Given the description of an element on the screen output the (x, y) to click on. 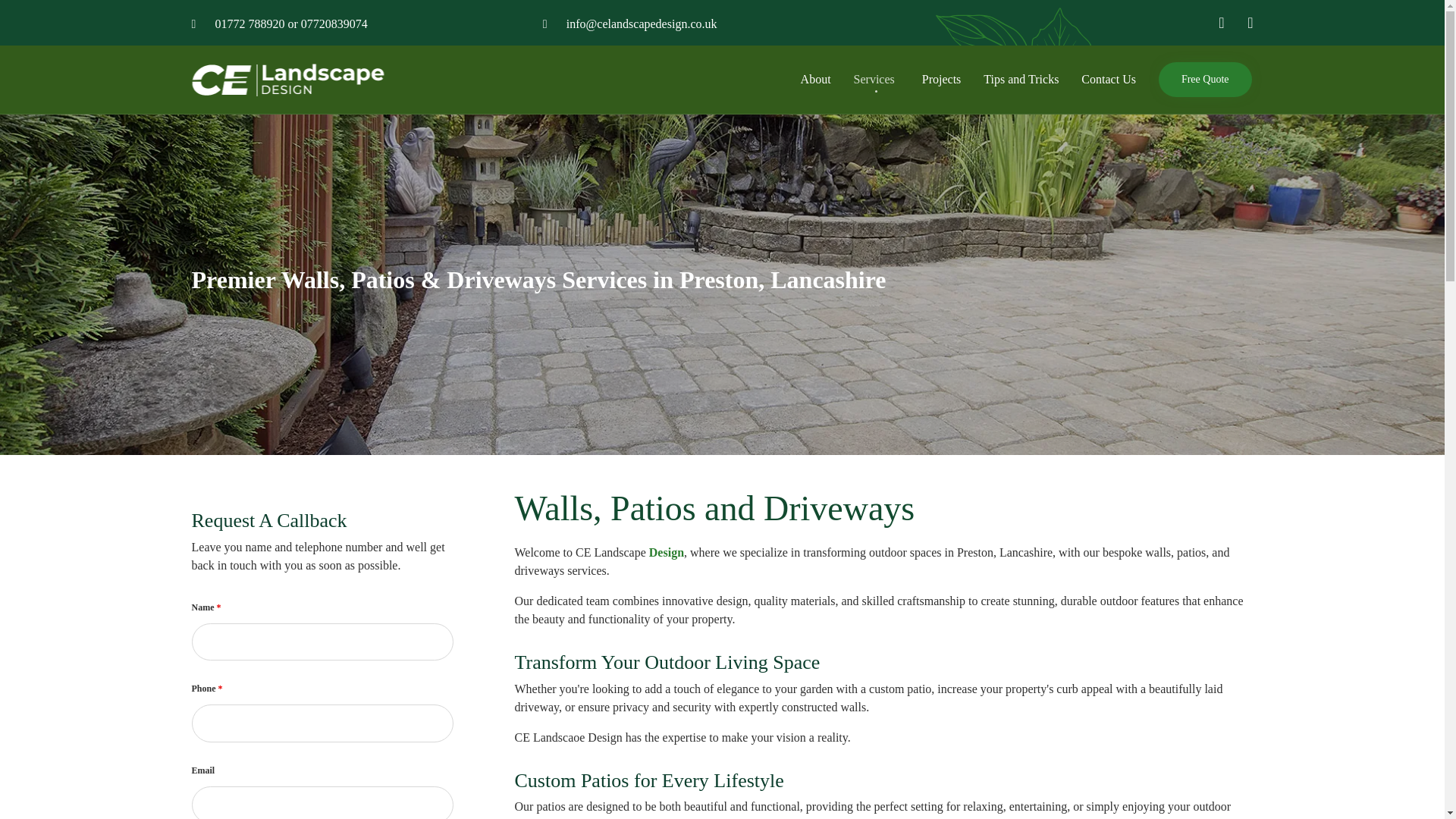
Services (877, 79)
Free Quote (1205, 79)
About (816, 79)
Contact Us (1108, 79)
Projects (941, 79)
Design (666, 553)
Landscape Gardening Design, Preston, Lancashire (287, 79)
Tips and Tricks (1021, 79)
